Given the description of an element on the screen output the (x, y) to click on. 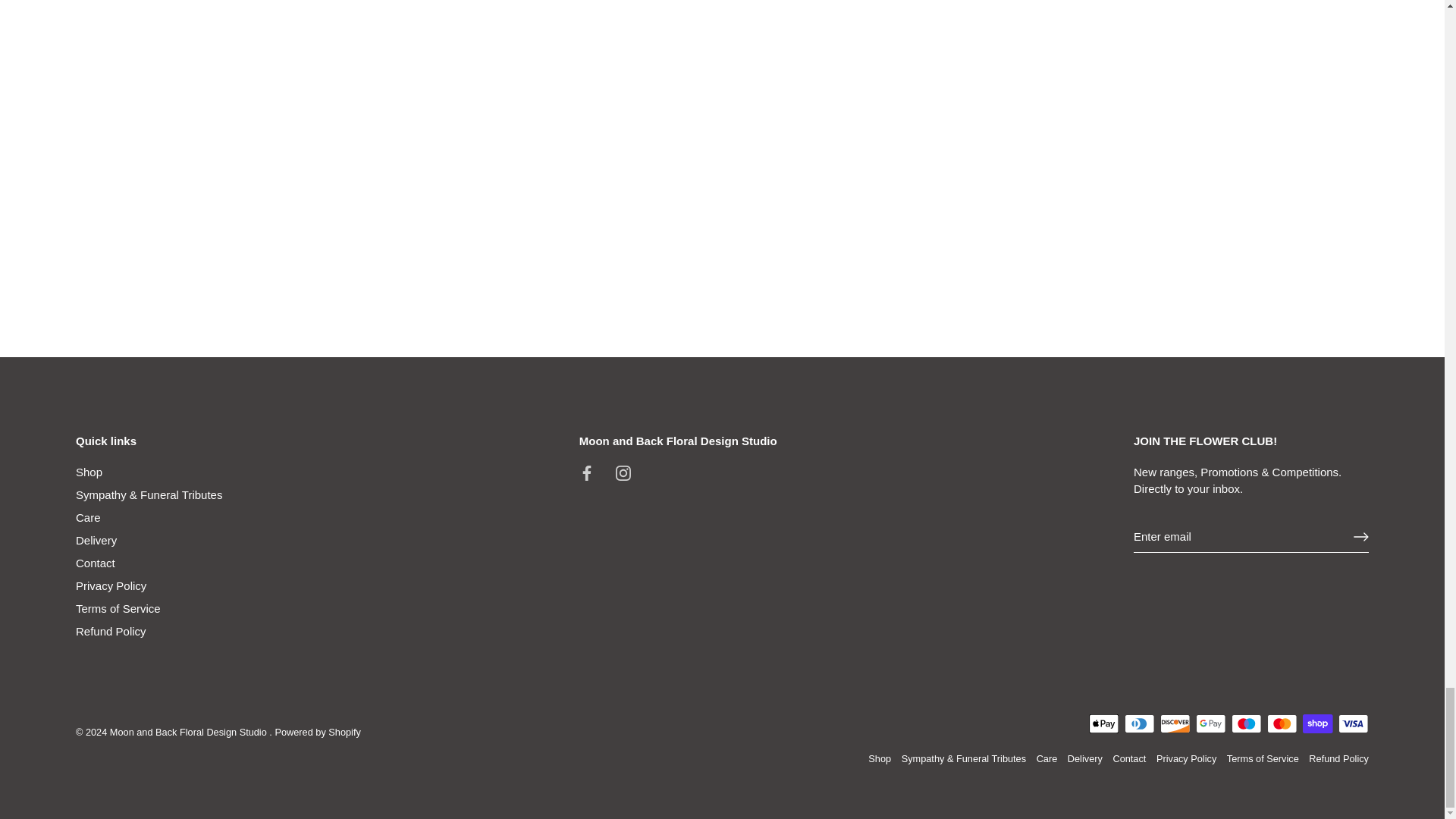
RIGHT ARROW LONG (1361, 536)
Apple Pay (1104, 723)
Diners Club (1139, 723)
Refund Policy (111, 631)
Shop Pay (1317, 723)
Privacy Policy (111, 585)
Care (87, 517)
Delivery (95, 540)
Discover (1174, 723)
Shop (88, 472)
